Given the description of an element on the screen output the (x, y) to click on. 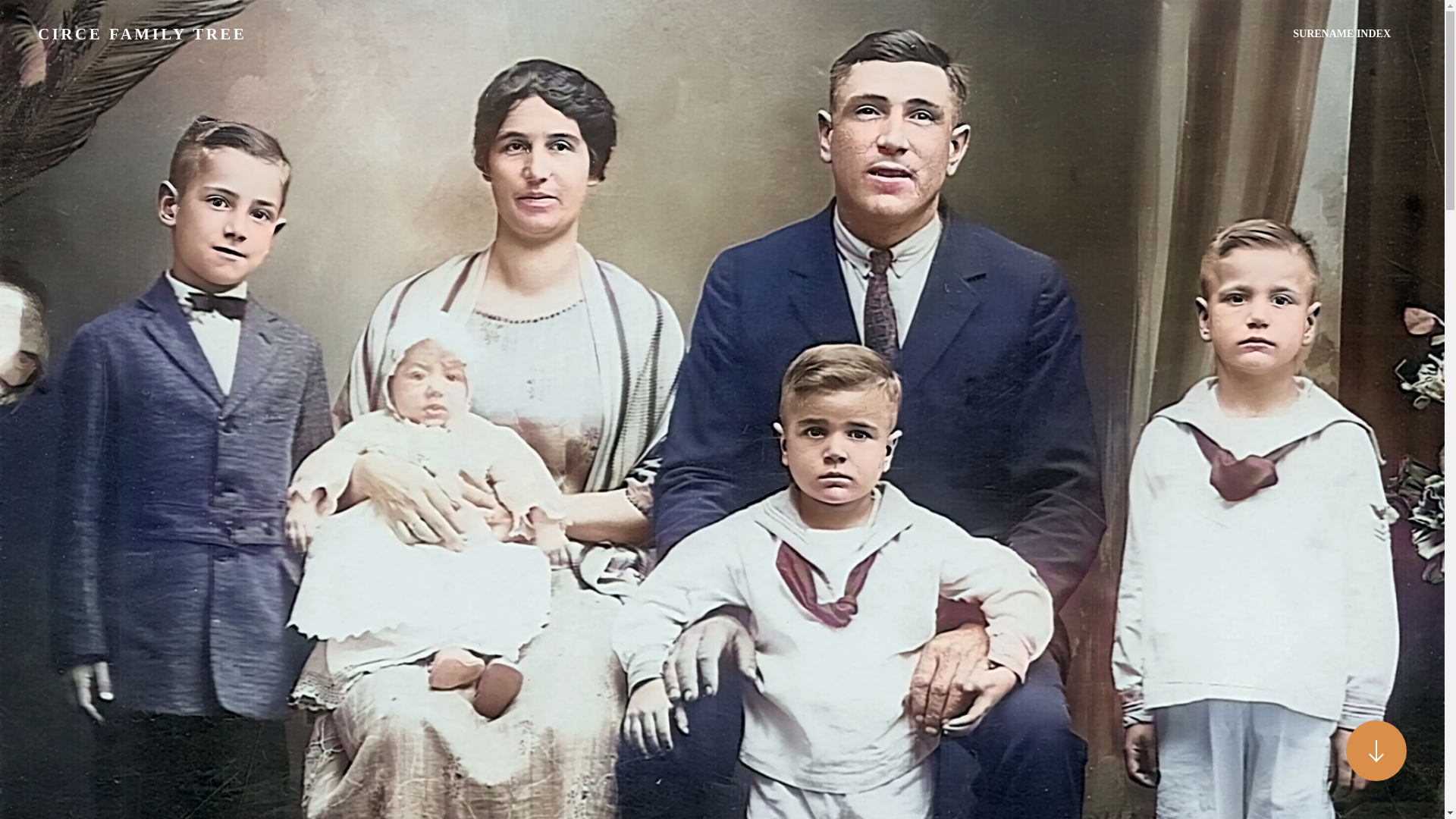
Scroll Down (1375, 750)
Scroll Down (1375, 750)
SURENAME INDEX (1341, 34)
CIRCE FAMILY TREE (141, 34)
